Given the description of an element on the screen output the (x, y) to click on. 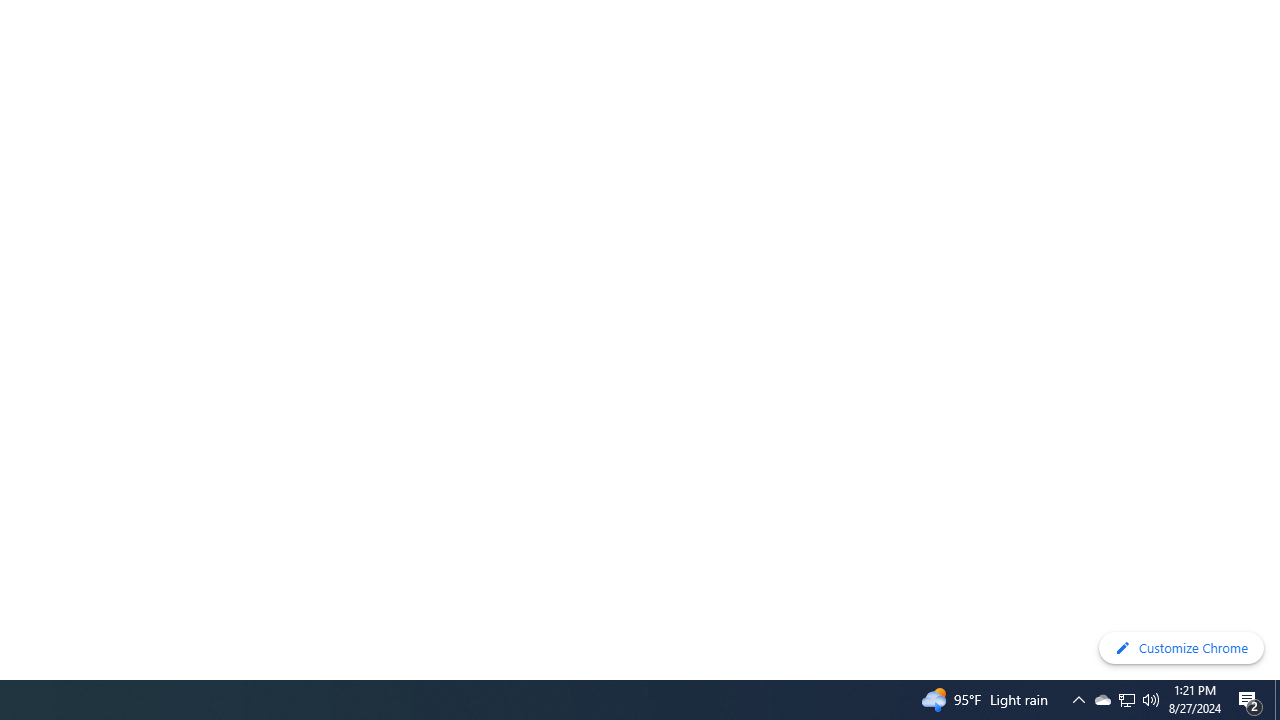
Customize Chrome (1181, 647)
